Given the description of an element on the screen output the (x, y) to click on. 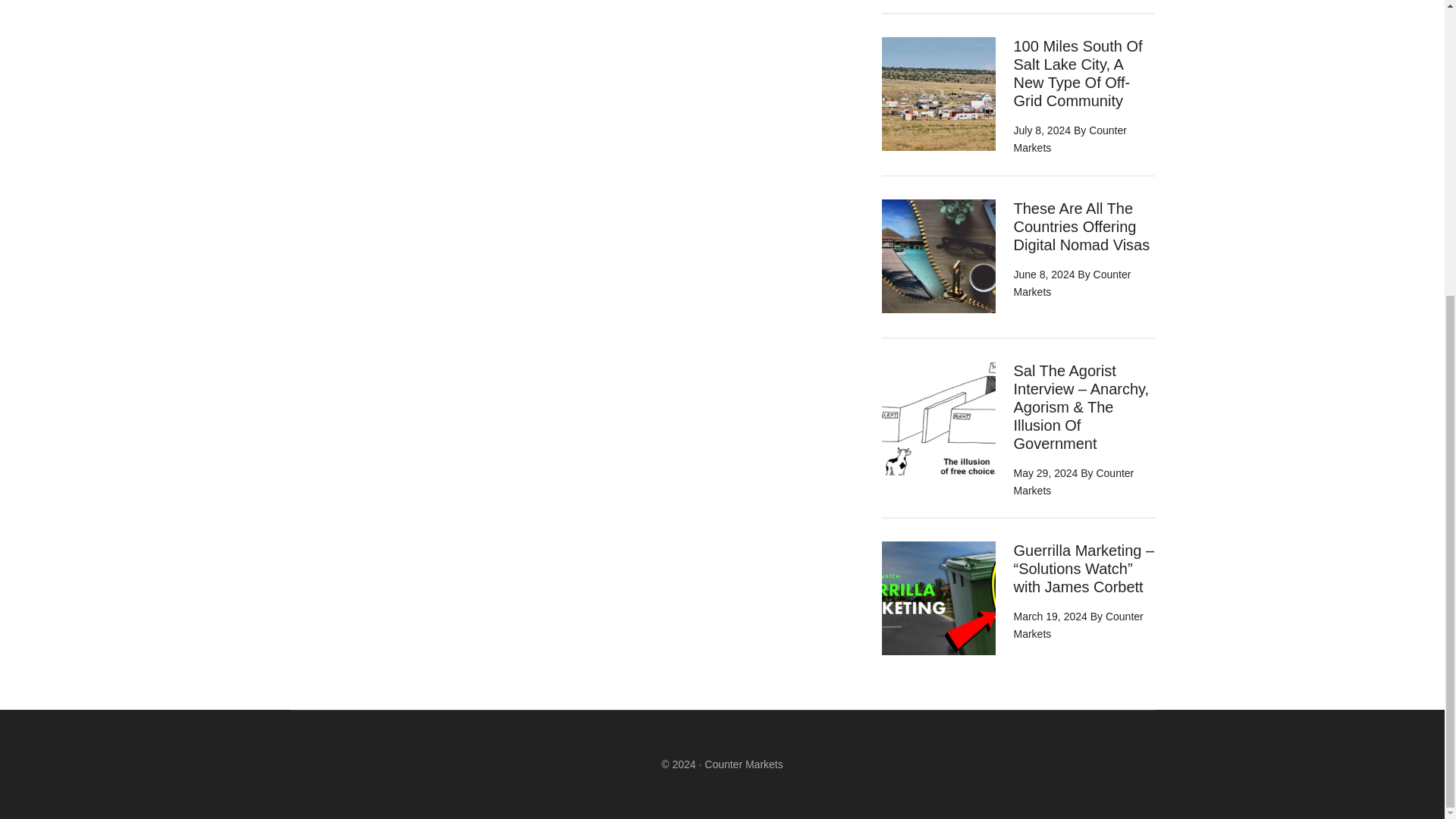
Counter Markets (1069, 138)
Counter Markets (1072, 283)
These Are All The Countries Offering Digital Nomad Visas (1081, 226)
Counter Markets (1077, 624)
Counter Markets (743, 764)
Counter Markets (1073, 481)
